Given the description of an element on the screen output the (x, y) to click on. 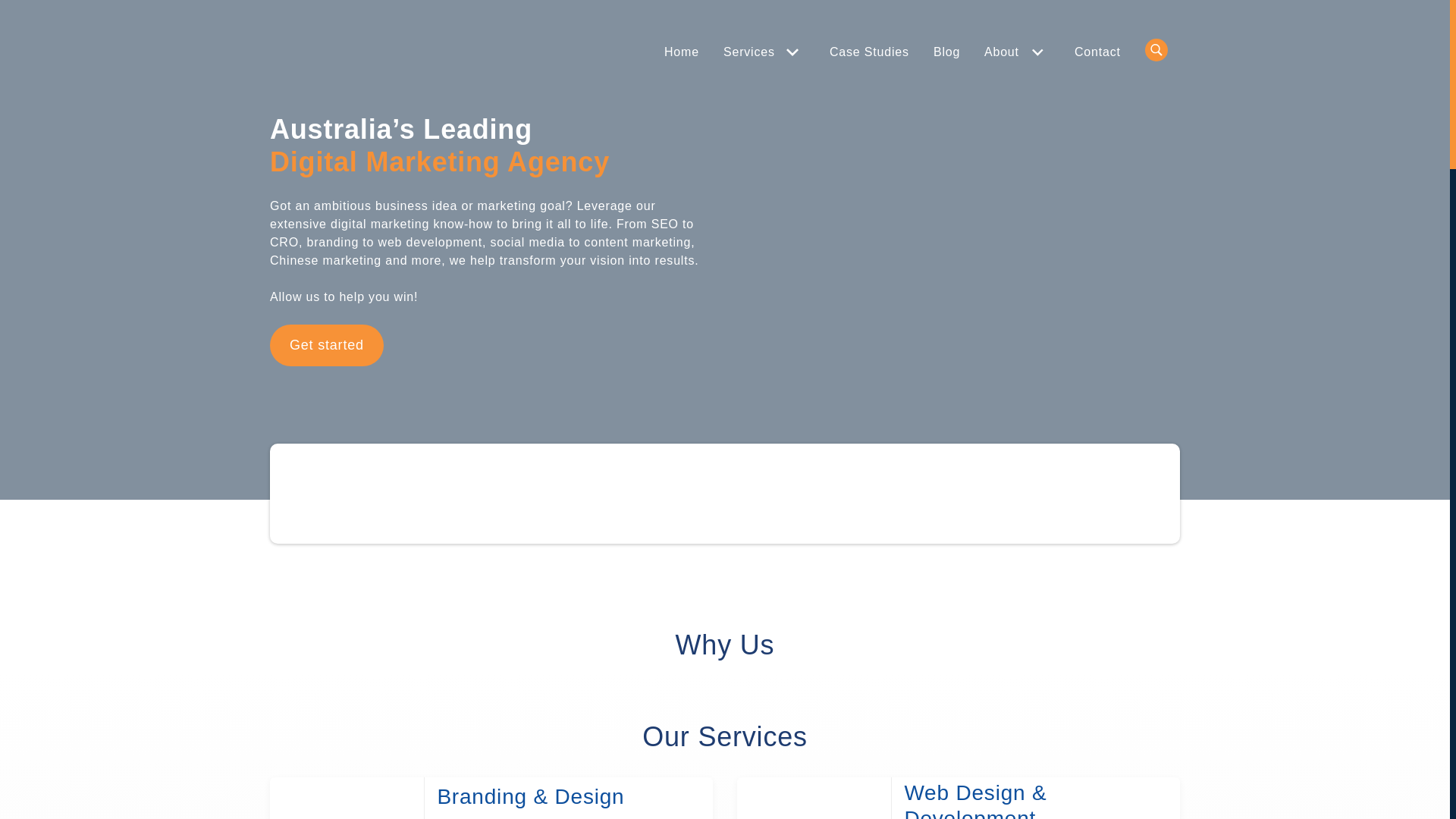
Services Element type: text (751, 52)
Get started Element type: text (326, 345)
Case Studies Element type: text (869, 52)
Branding & Design Element type: text (568, 796)
Blog Element type: text (946, 52)
Home Element type: text (681, 52)
Contact Element type: text (1097, 52)
Ignite Search Element type: text (318, 56)
About Element type: text (1005, 52)
